Given the description of an element on the screen output the (x, y) to click on. 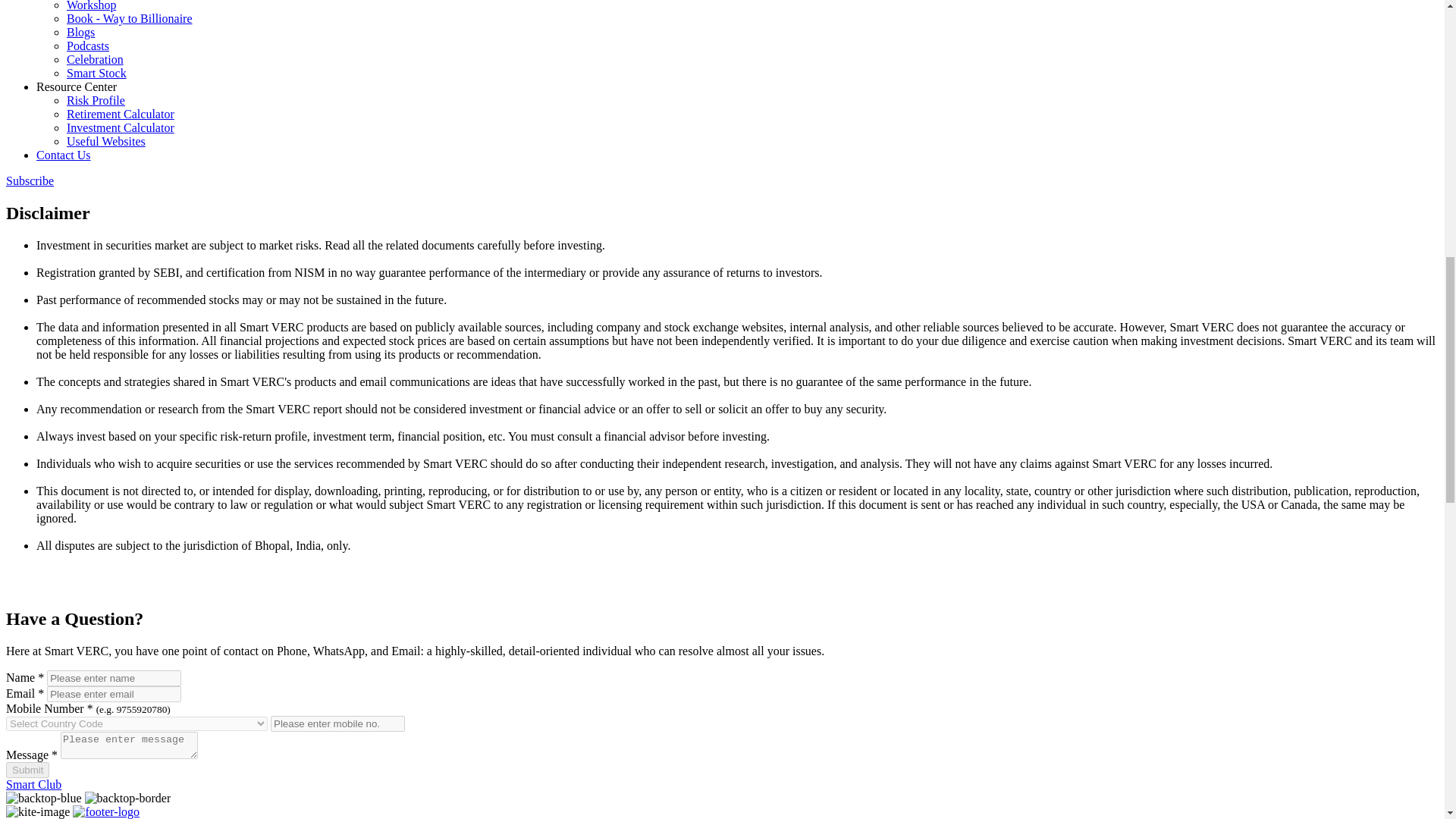
Submit (27, 770)
backtop-border (127, 798)
kite-image (37, 812)
footer-logo (105, 812)
backtop-blue (43, 798)
